Given the description of an element on the screen output the (x, y) to click on. 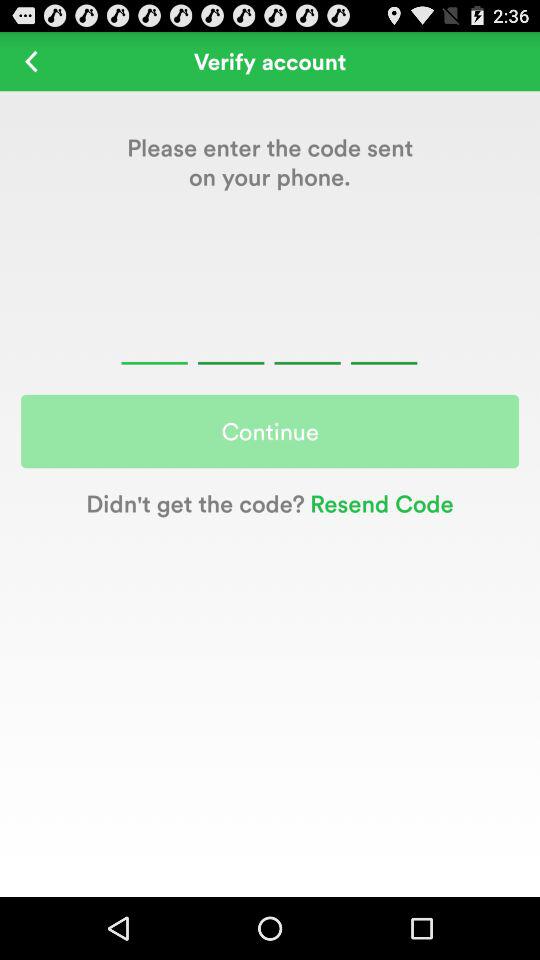
select item next to the didn t get (378, 502)
